Given the description of an element on the screen output the (x, y) to click on. 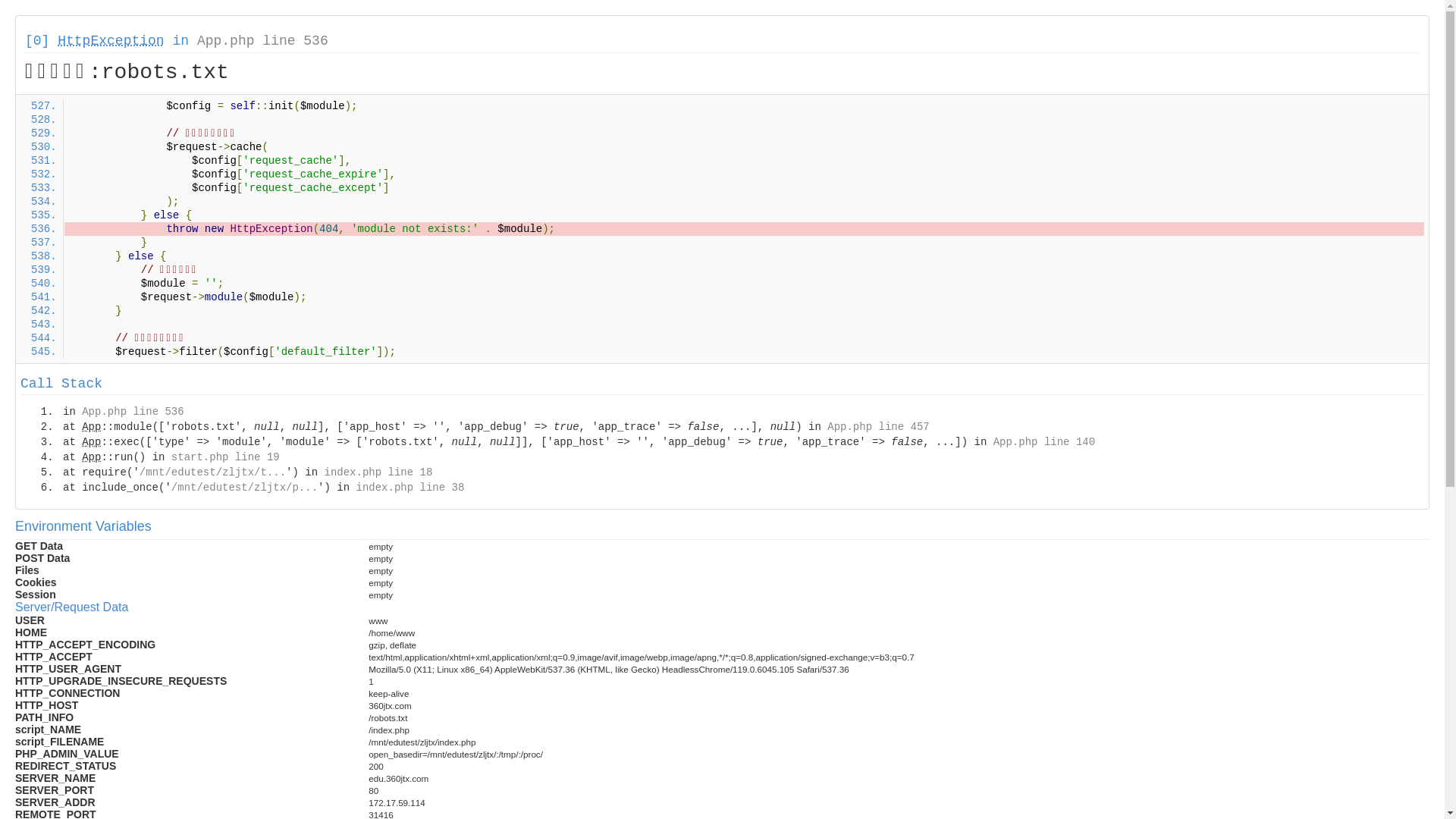
App.php line 457 Element type: text (877, 426)
App.php line 536 Element type: text (132, 411)
start.php line 19 Element type: text (225, 457)
/mnt/edutest/zljtx/p... Element type: text (244, 487)
App.php line 536 Element type: text (262, 40)
index.php line 38 Element type: text (409, 487)
/mnt/edutest/zljtx/t... Element type: text (212, 472)
index.php line 18 Element type: text (377, 472)
App.php line 140 Element type: text (1044, 442)
